Given the description of an element on the screen output the (x, y) to click on. 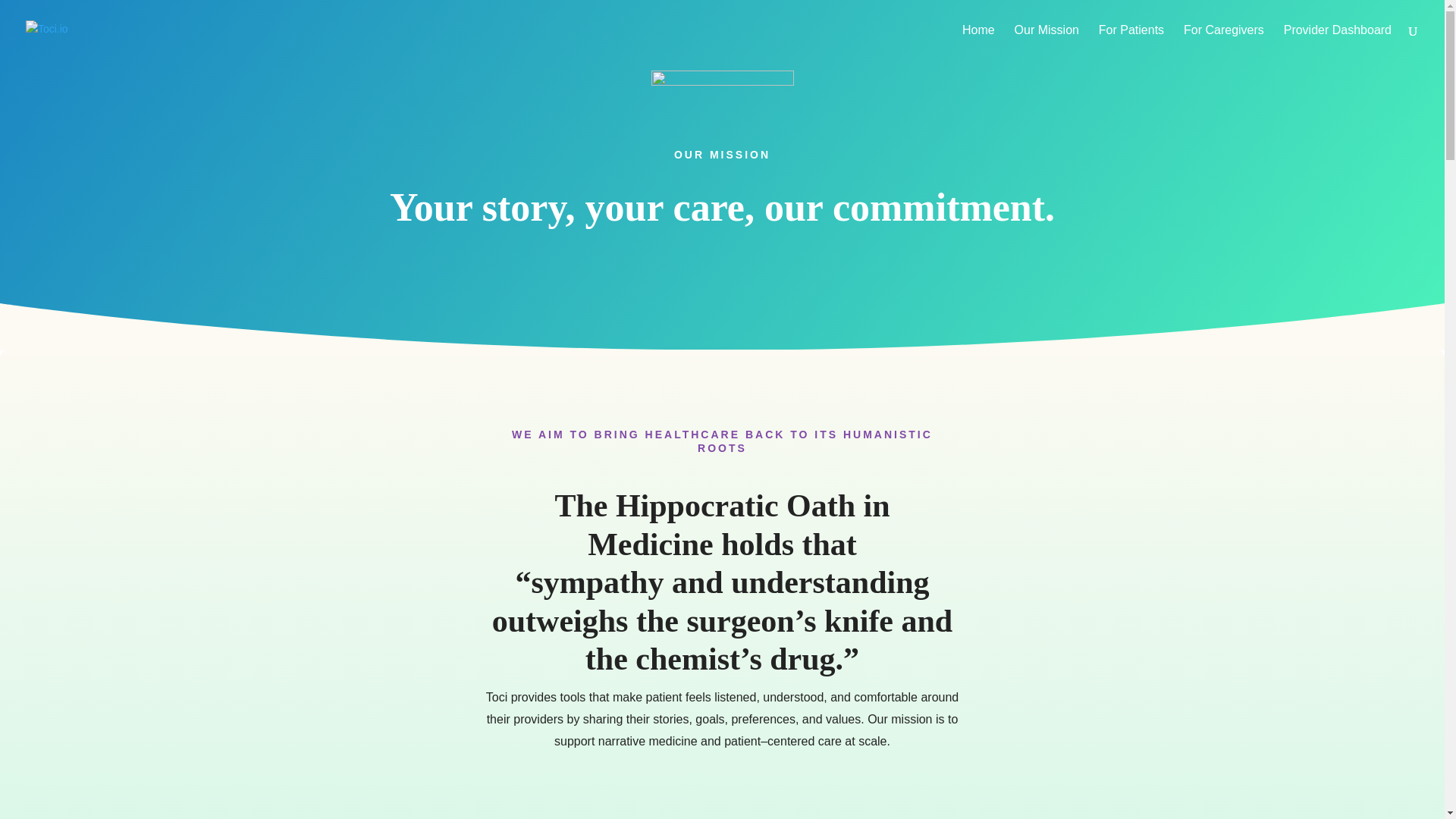
Home (978, 42)
For Caregivers (1223, 42)
For Patients (1131, 42)
Provider Dashboard (1337, 42)
Our Mission (1046, 42)
